Given the description of an element on the screen output the (x, y) to click on. 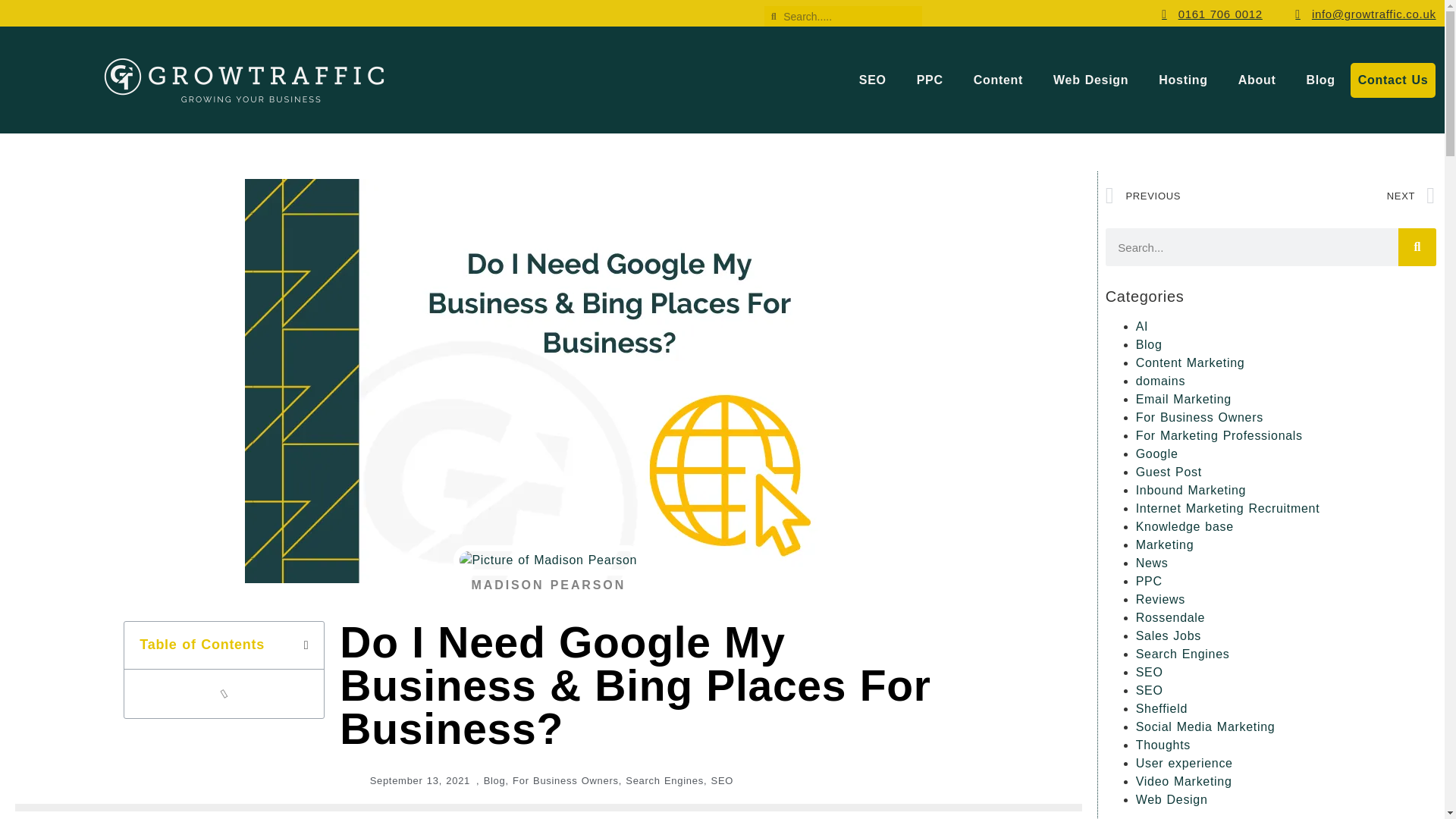
Hosting (1182, 79)
SEO (872, 79)
Web Design (1090, 79)
0161 706 0012 (1206, 14)
Contact Us (1393, 79)
Content (998, 79)
PPC (929, 79)
Blog (1319, 79)
About (1257, 79)
